Given the description of an element on the screen output the (x, y) to click on. 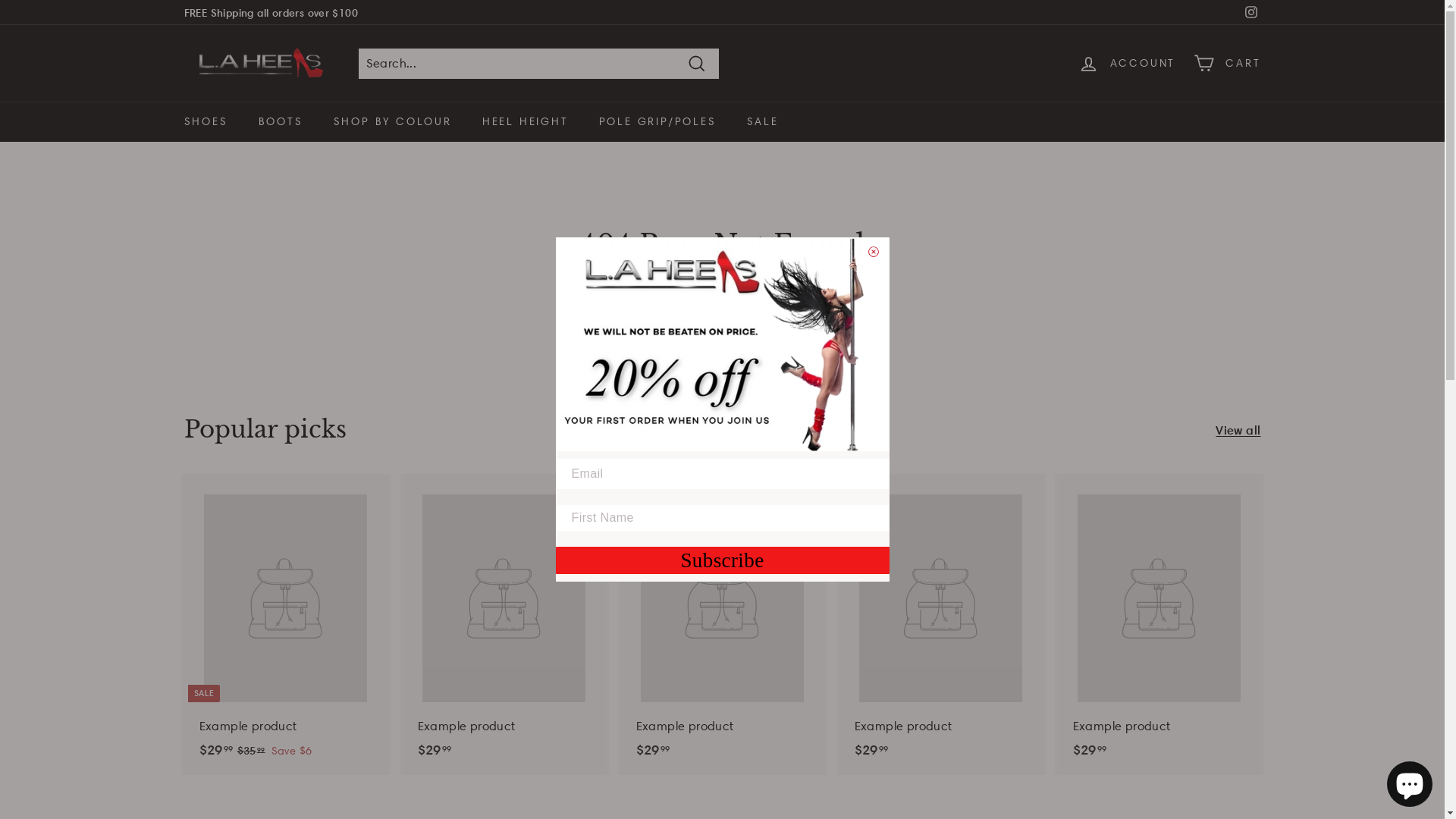
Continue shopping Element type: text (722, 303)
Instagram Element type: text (1250, 11)
Example product
$2999
$29.99 Element type: text (503, 624)
Shopify online store chat Element type: hover (1409, 780)
ACCOUNT Element type: text (1127, 62)
POLE GRIP/POLES Element type: text (657, 121)
SHOES Element type: text (205, 121)
Example product
$2999
$29.99 Element type: text (1158, 624)
SHOP BY COLOUR Element type: text (392, 121)
View all Element type: text (1237, 429)
Example product
$2999
$29.99 Element type: text (721, 624)
Example product
$2999
$29.99 Element type: text (939, 624)
Skip to content Element type: text (0, 0)
BOOTS Element type: text (279, 121)
SALE
Example product
$2999
$29.99
$3599
$35.99
Save $6 Element type: text (284, 624)
HEEL HEIGHT Element type: text (525, 121)
SALE Element type: text (762, 121)
